Given the description of an element on the screen output the (x, y) to click on. 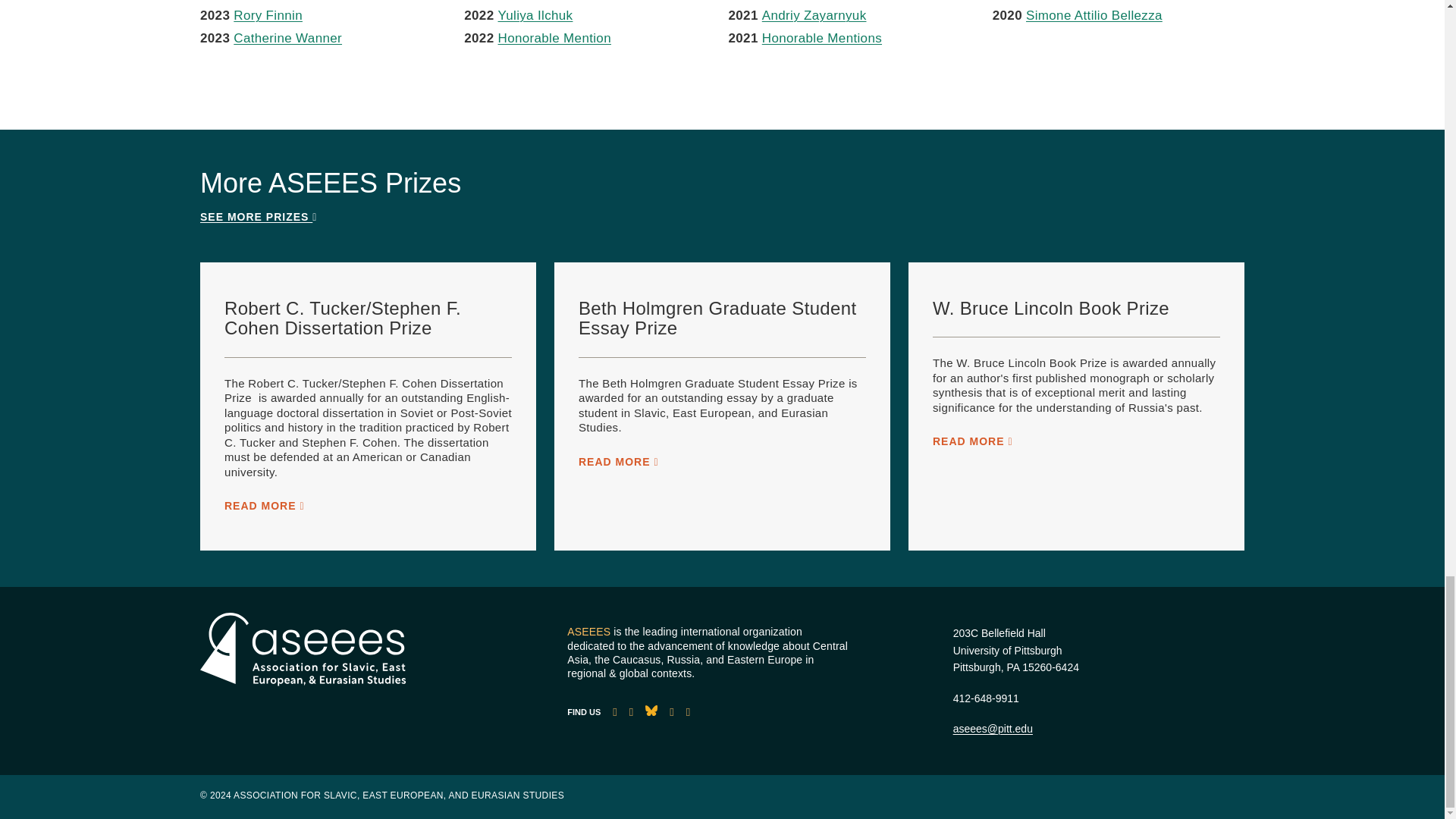
Yuliya Ilchuk (535, 15)
Honorable Mention (554, 38)
Catherine Wanner (287, 38)
Honorable Mentions (821, 38)
Rory Finnin (267, 15)
Beth Holmgren Graduate Student Essay Prize (717, 318)
Simone Attilio Bellezza (1093, 15)
Andriy Zayarnyuk (813, 15)
